Given the description of an element on the screen output the (x, y) to click on. 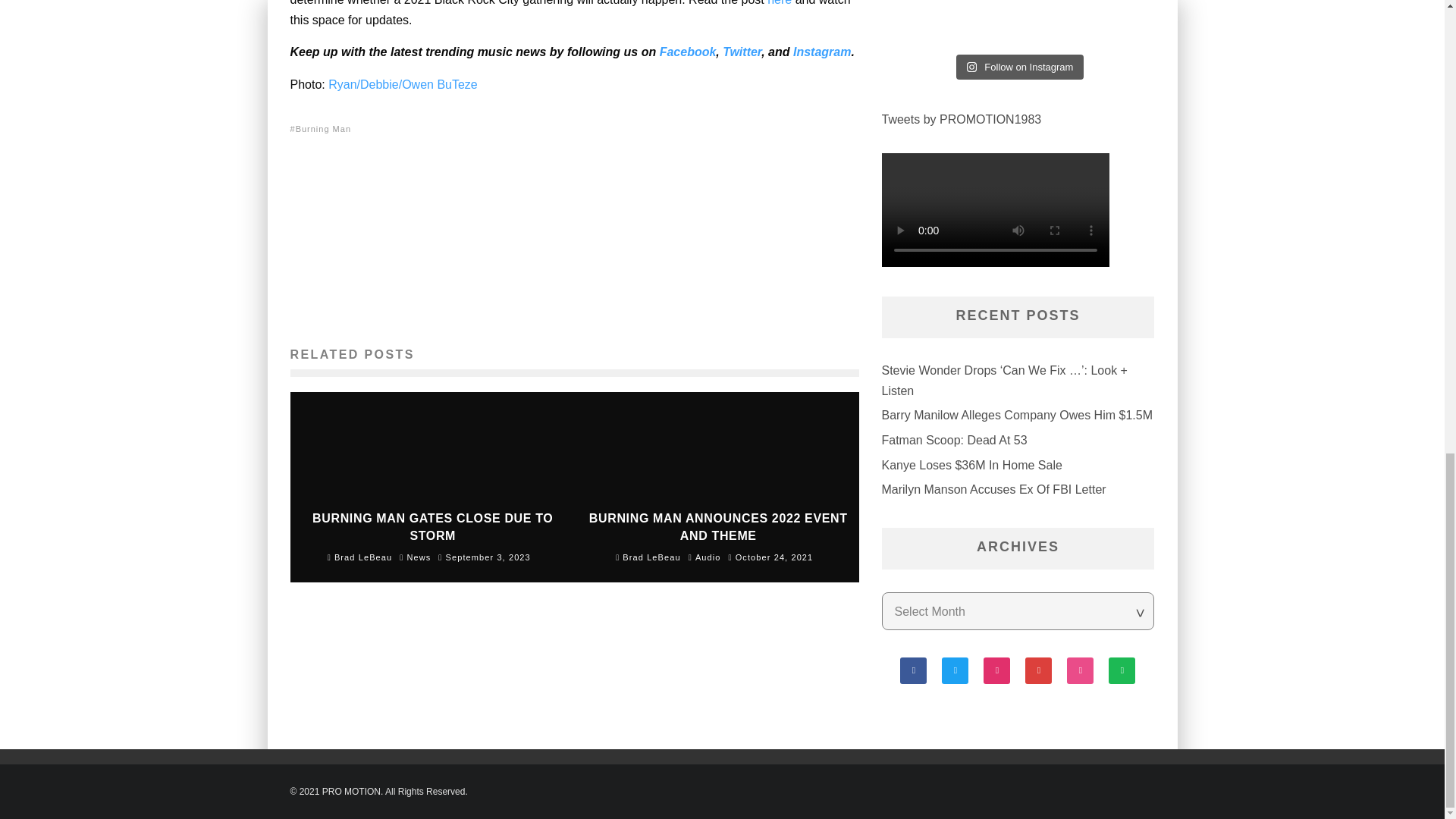
Instagram (821, 51)
here (779, 2)
BURNING MAN ANNOUNCES 2022 EVENT AND THEME (718, 526)
Twitter (741, 51)
Advertisement (581, 241)
BURNING MAN GATES CLOSE DUE TO STORM (433, 526)
Audio (707, 557)
Burning Man (324, 128)
News (418, 557)
Facebook (687, 51)
